Given the description of an element on the screen output the (x, y) to click on. 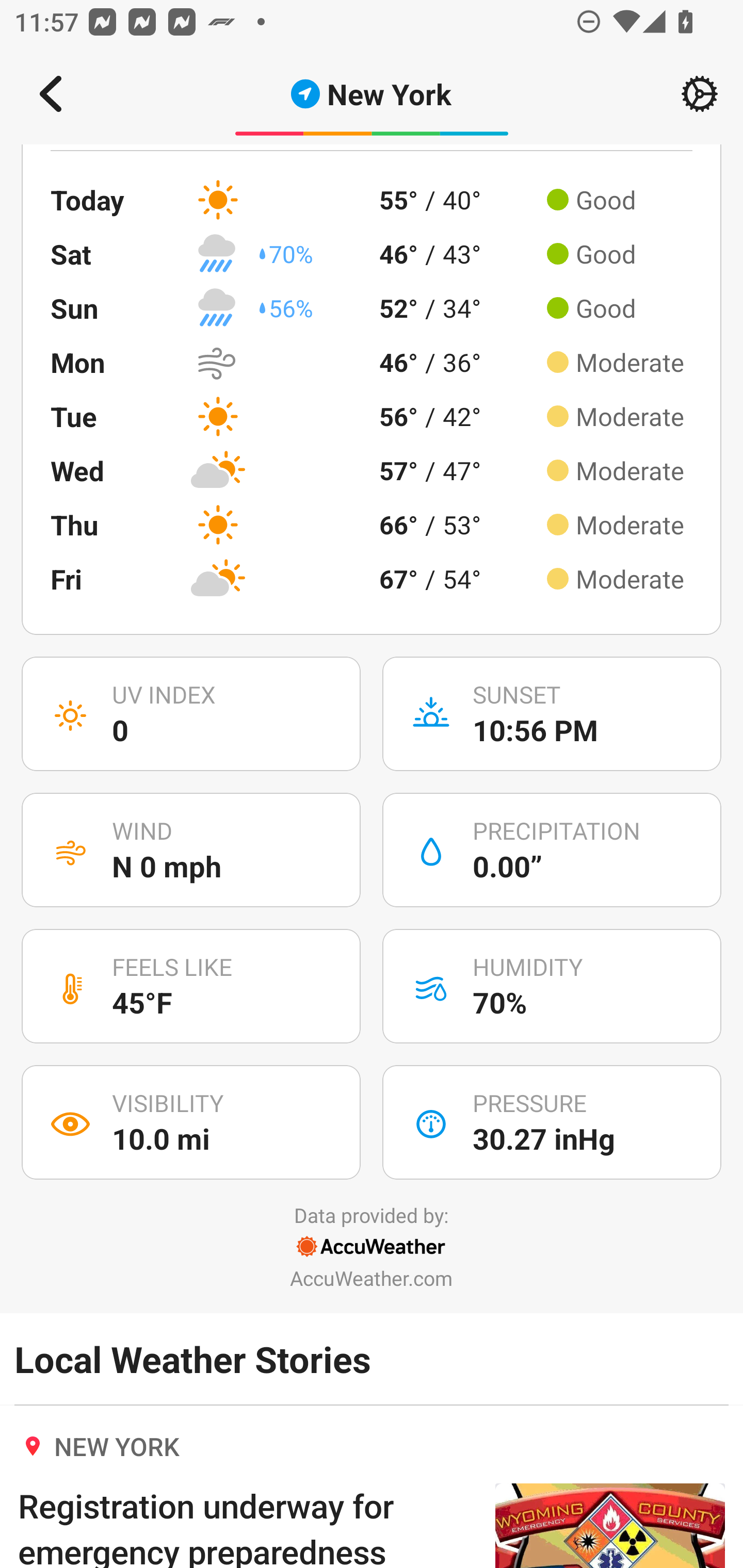
Navigate up (50, 93)
Setting (699, 93)
